Given the description of an element on the screen output the (x, y) to click on. 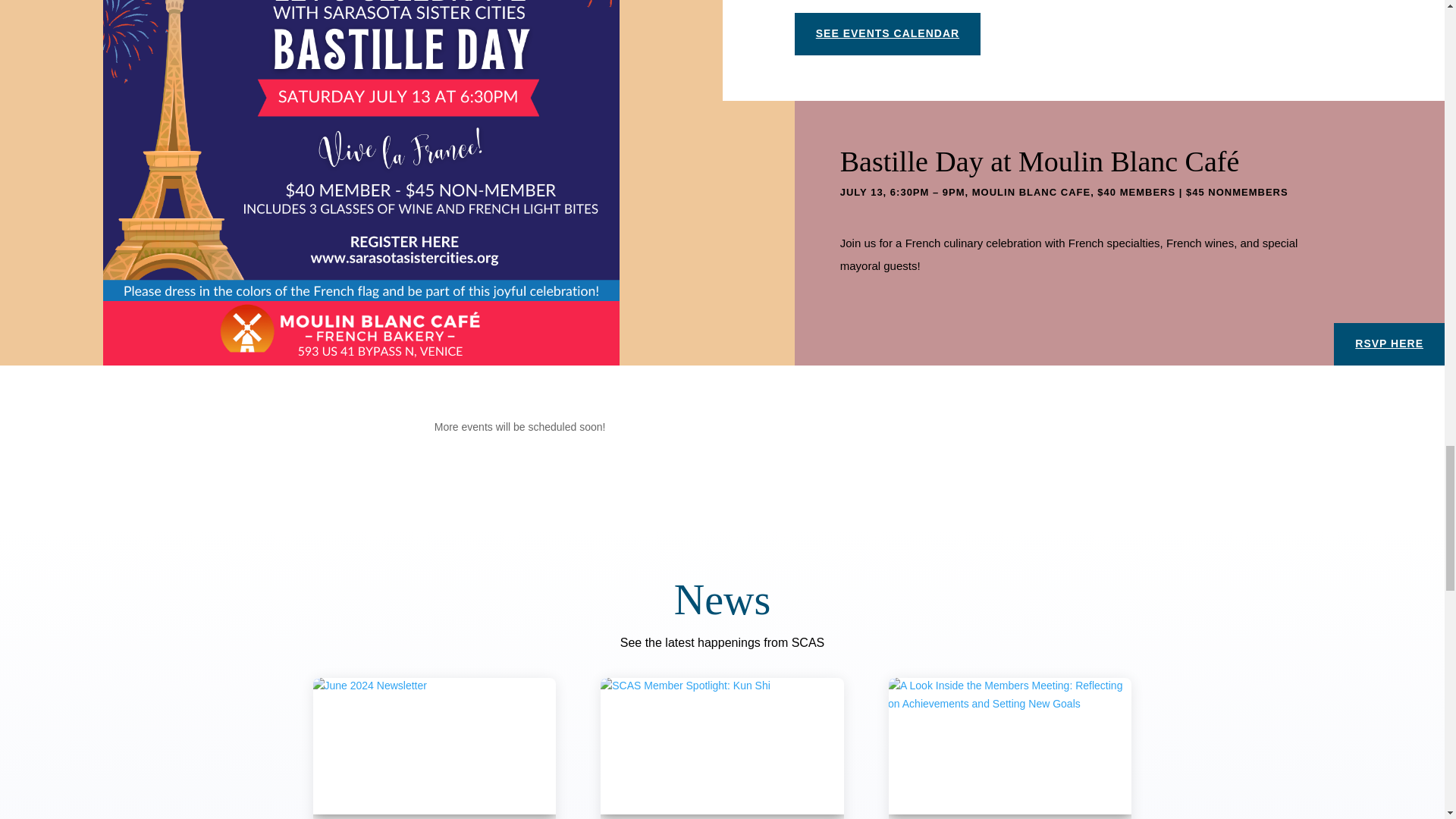
SEE EVENTS CALENDAR (886, 34)
